Given the description of an element on the screen output the (x, y) to click on. 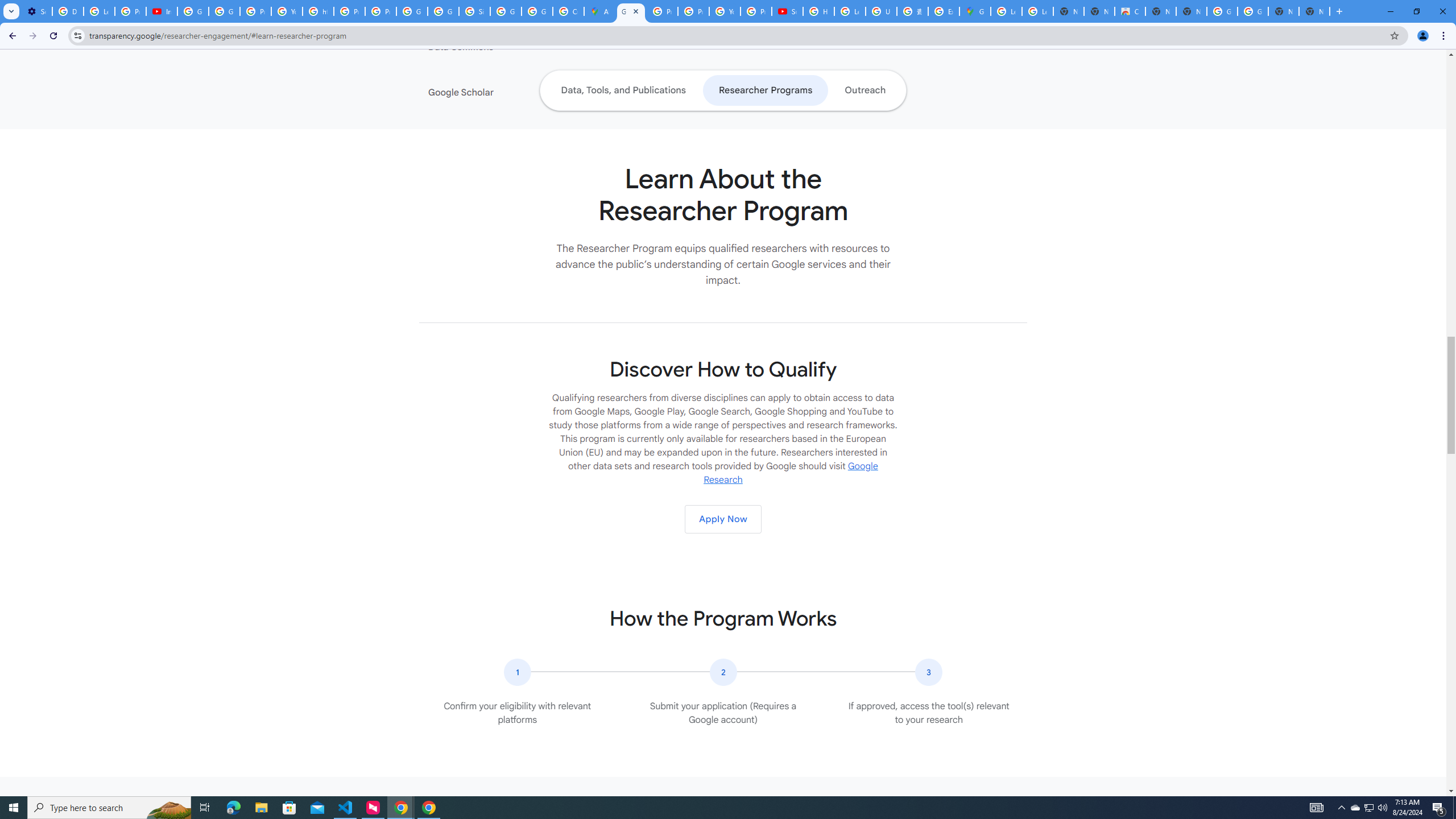
The number three in a circular icon. (929, 672)
YouTube (724, 11)
Privacy Help Center - Policies Help (662, 11)
Google Scholar (497, 92)
